Given the description of an element on the screen output the (x, y) to click on. 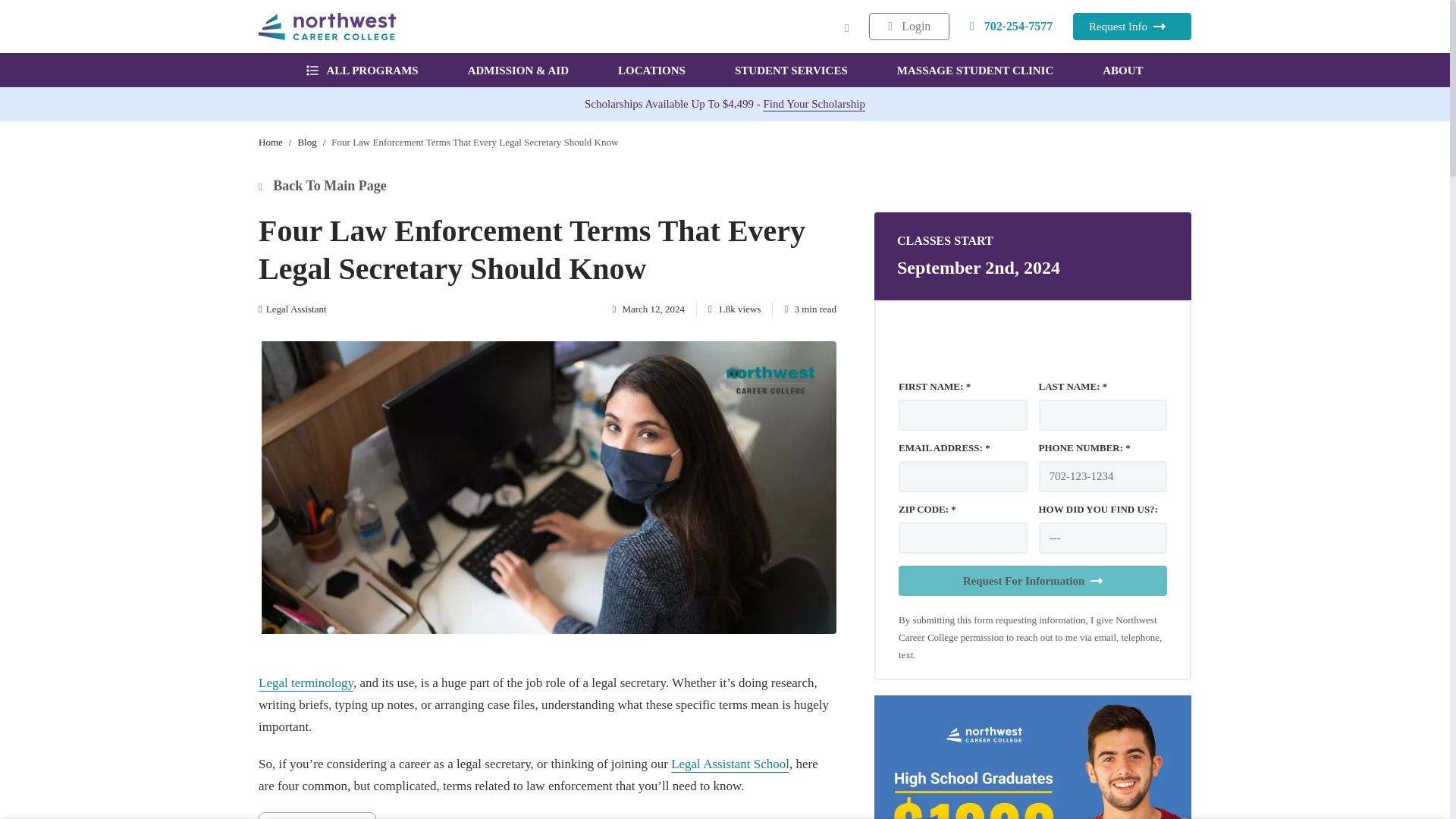
702-254-7577 (1011, 26)
Request Info (1132, 26)
ALL PROGRAMS (362, 69)
Blog (306, 142)
Login (909, 26)
